Given the description of an element on the screen output the (x, y) to click on. 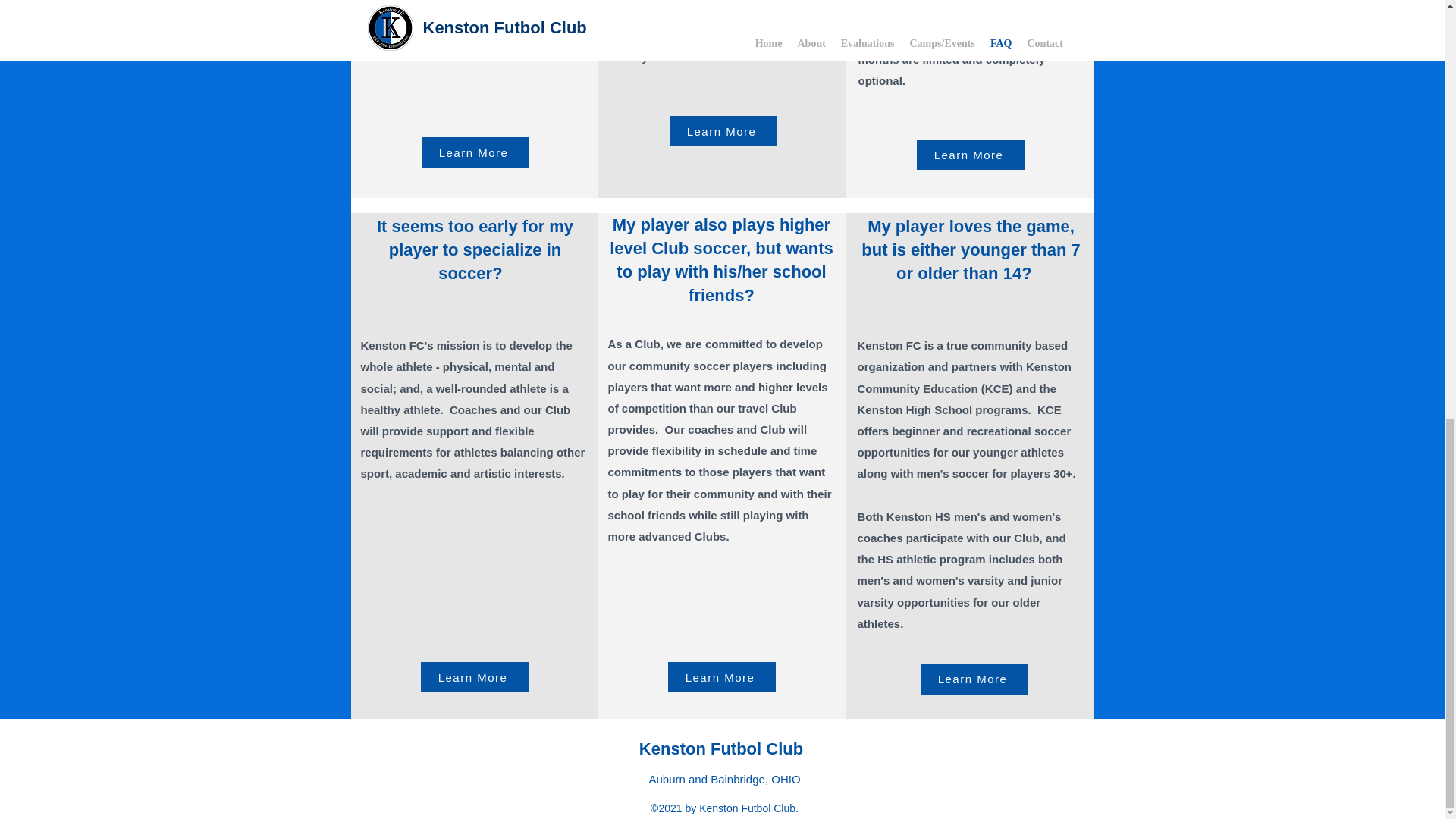
Learn More (722, 131)
Learn More (969, 154)
Learn More (475, 152)
Learn More (720, 676)
Kenston Futbol Club (721, 748)
Learn More (973, 679)
Learn More (473, 676)
